Given the description of an element on the screen output the (x, y) to click on. 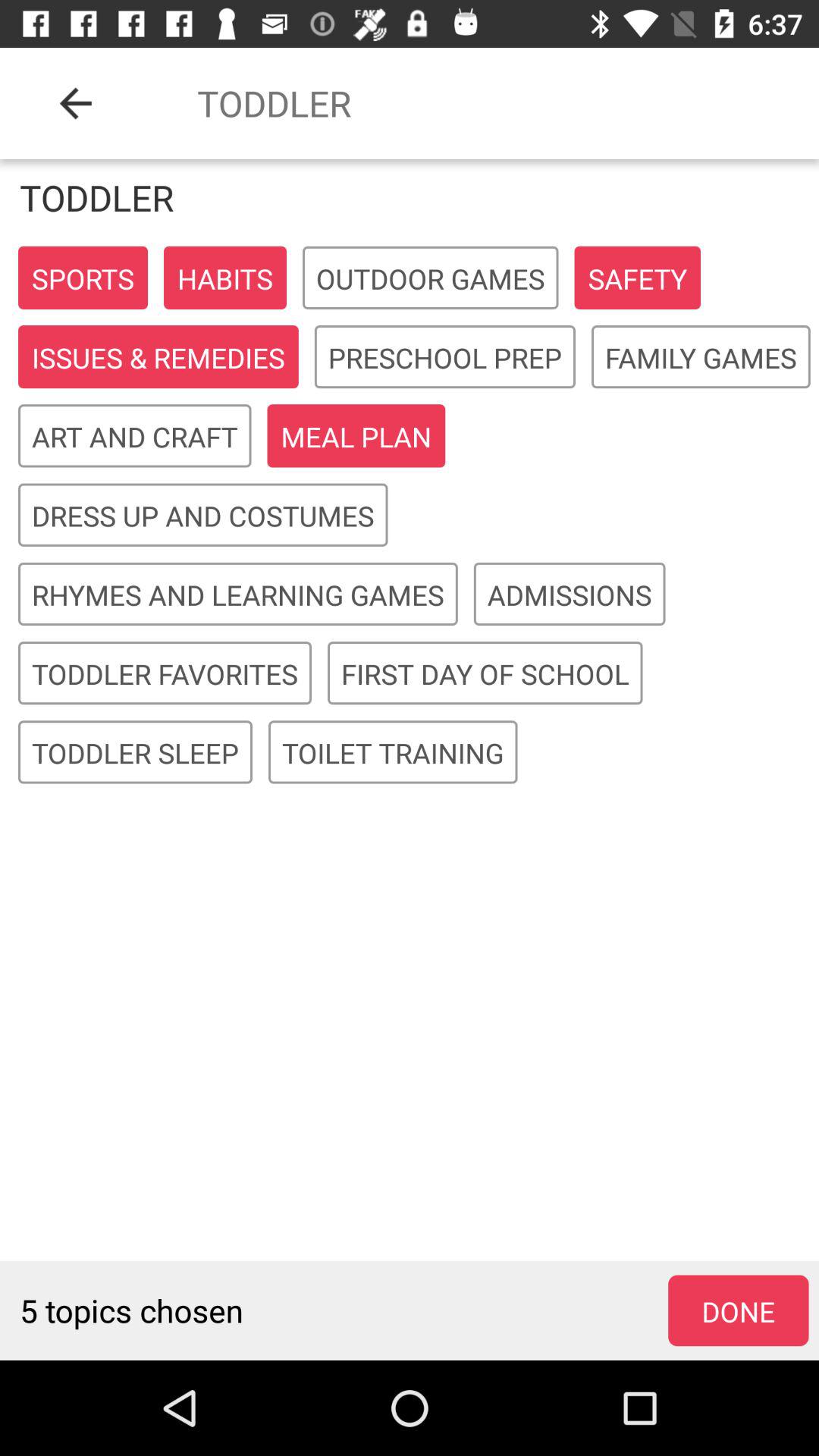
turn on item above the first day of (569, 594)
